Given the description of an element on the screen output the (x, y) to click on. 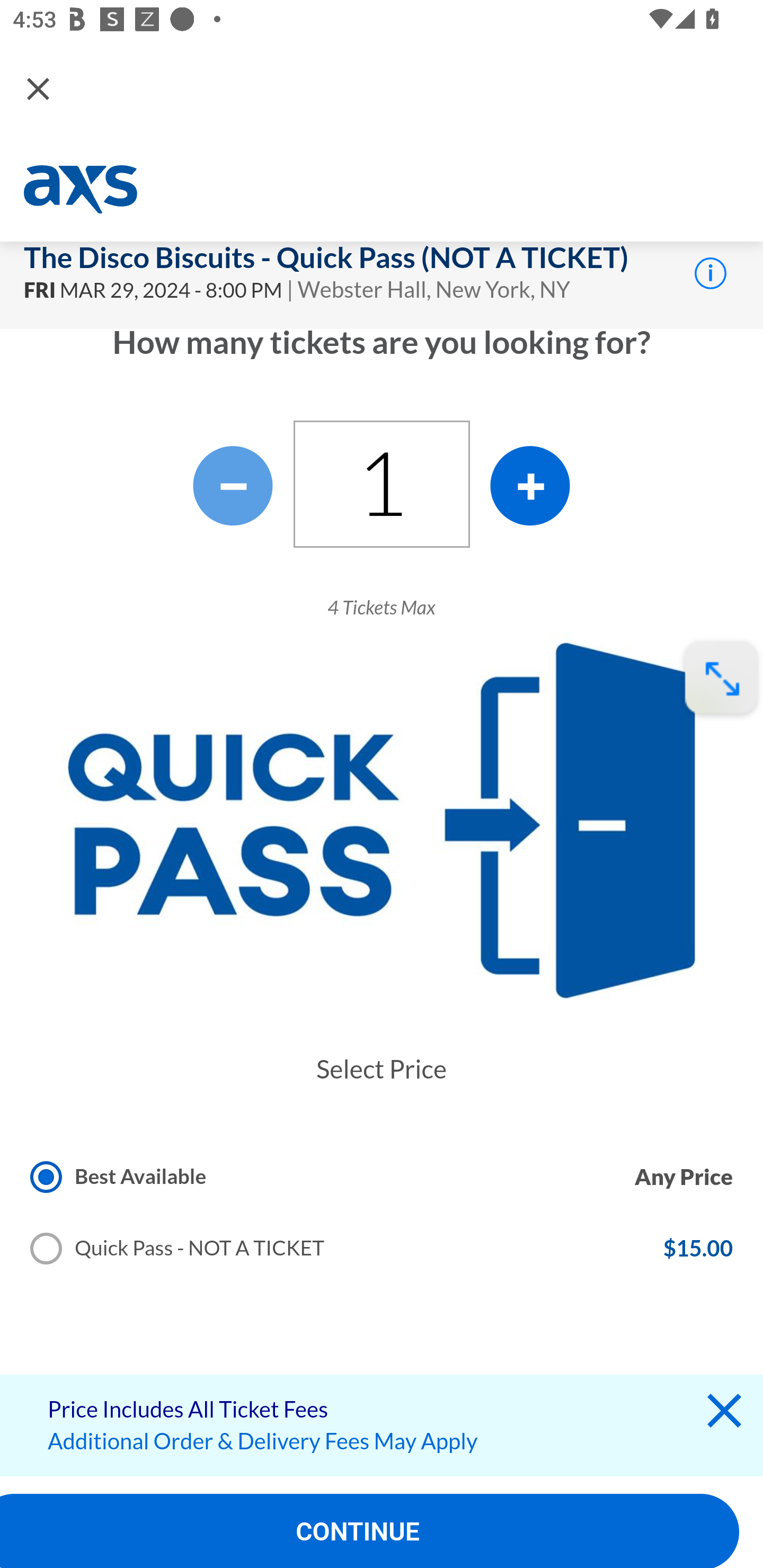
Close (38, 88)
BoweryNY-WH (83, 190)
I (710, 272)
Minus (232, 485)
Plus (530, 485)
Full In (721, 678)
Best Available (118, 1176)
Best Available (124, 1179)
Quick Pass - NOT A TICKET (177, 1247)
$15.00 (697, 1247)
Quick Pass - NOT A TICKET (183, 1251)
Close (723, 1414)
Additional Order & Delivery Fees May Apply (262, 1440)
CONTINUE (369, 1531)
